Given the description of an element on the screen output the (x, y) to click on. 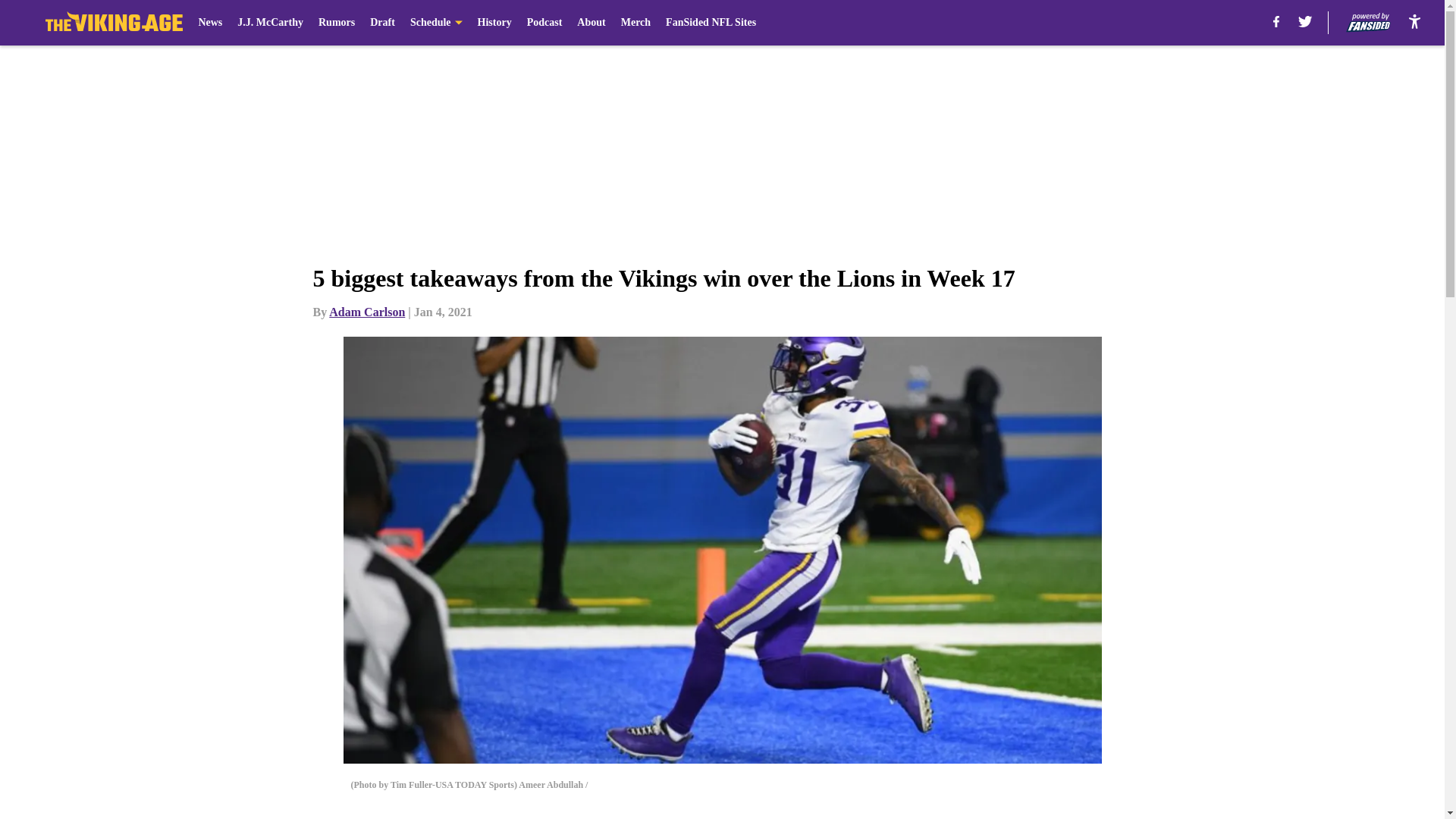
About (590, 22)
Adam Carlson (366, 311)
Draft (381, 22)
History (494, 22)
Rumors (336, 22)
J.J. McCarthy (269, 22)
FanSided NFL Sites (710, 22)
News (210, 22)
Merch (635, 22)
Podcast (544, 22)
